Given the description of an element on the screen output the (x, y) to click on. 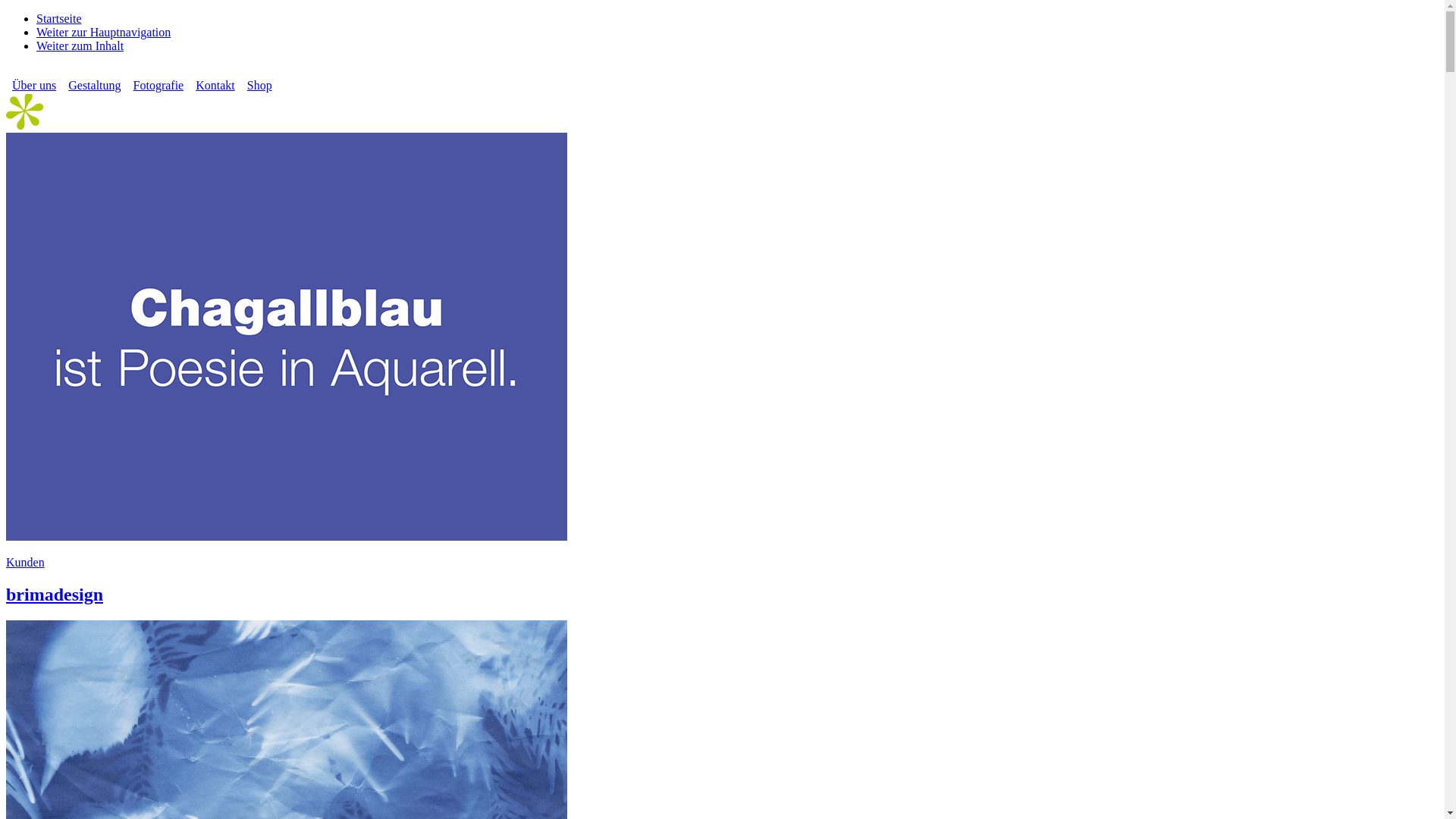
Shop Element type: text (259, 84)
Kunden
brimadesign Element type: text (722, 368)
Kontakt Element type: text (215, 84)
Fotografie Element type: text (158, 84)
Weiter zum Inhalt Element type: text (79, 45)
Startseite Element type: text (58, 18)
Gestaltung Element type: text (94, 84)
Weiter zur Hauptnavigation Element type: text (103, 31)
